Given the description of an element on the screen output the (x, y) to click on. 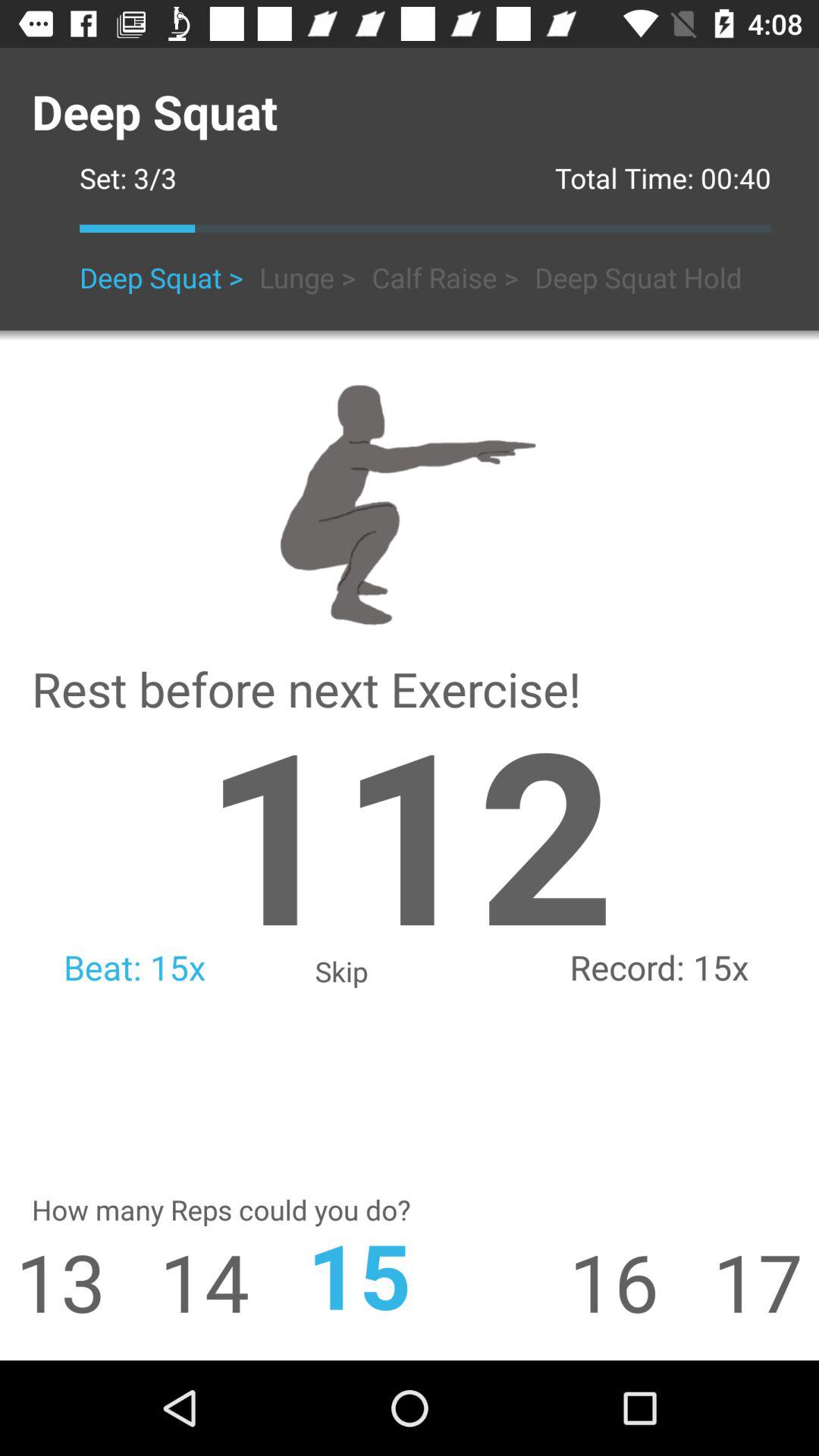
choose icon to the left of 15x icon (408, 831)
